Given the description of an element on the screen output the (x, y) to click on. 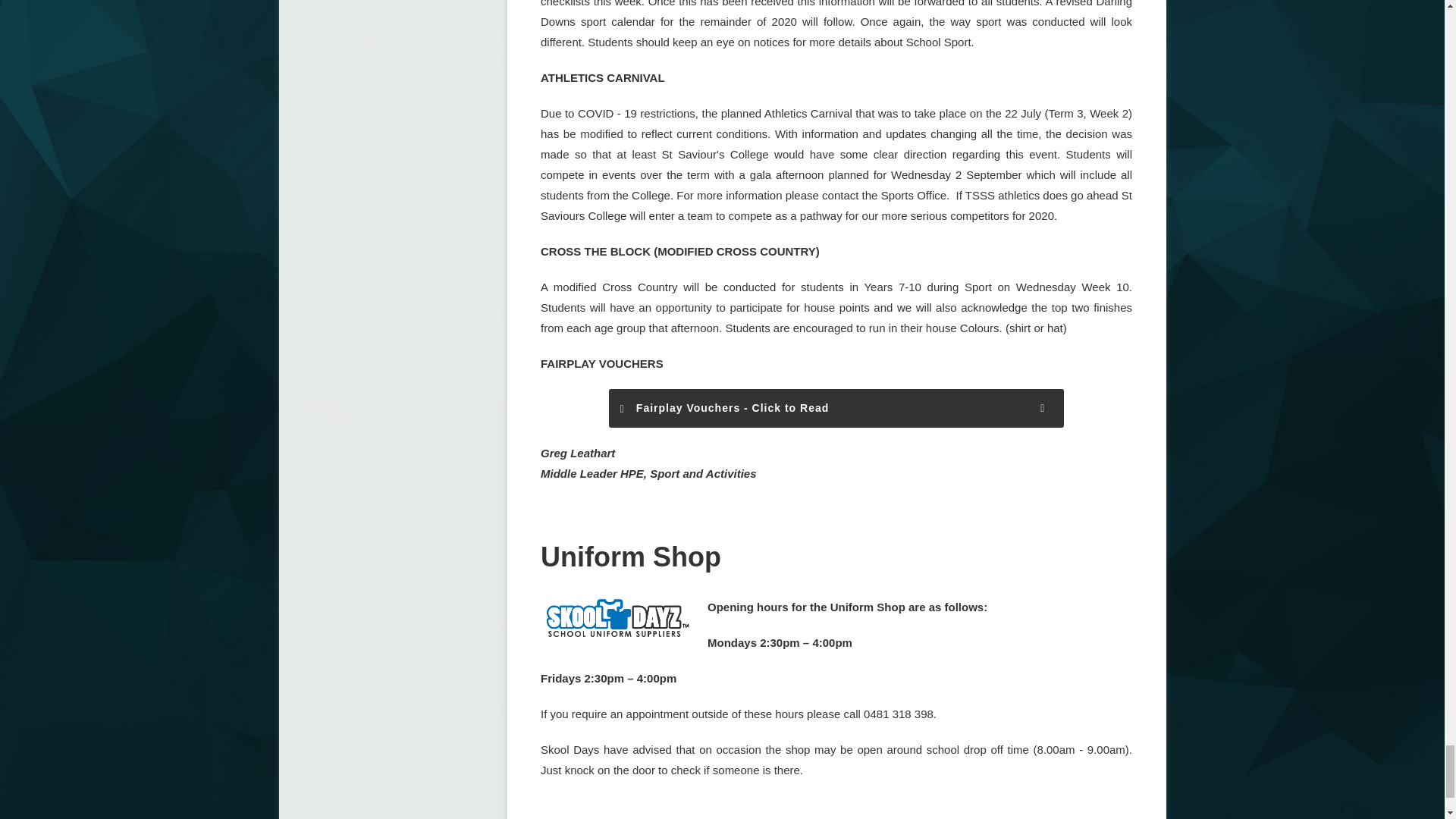
Fairplay Vouchers - Click to Read (836, 408)
